Given the description of an element on the screen output the (x, y) to click on. 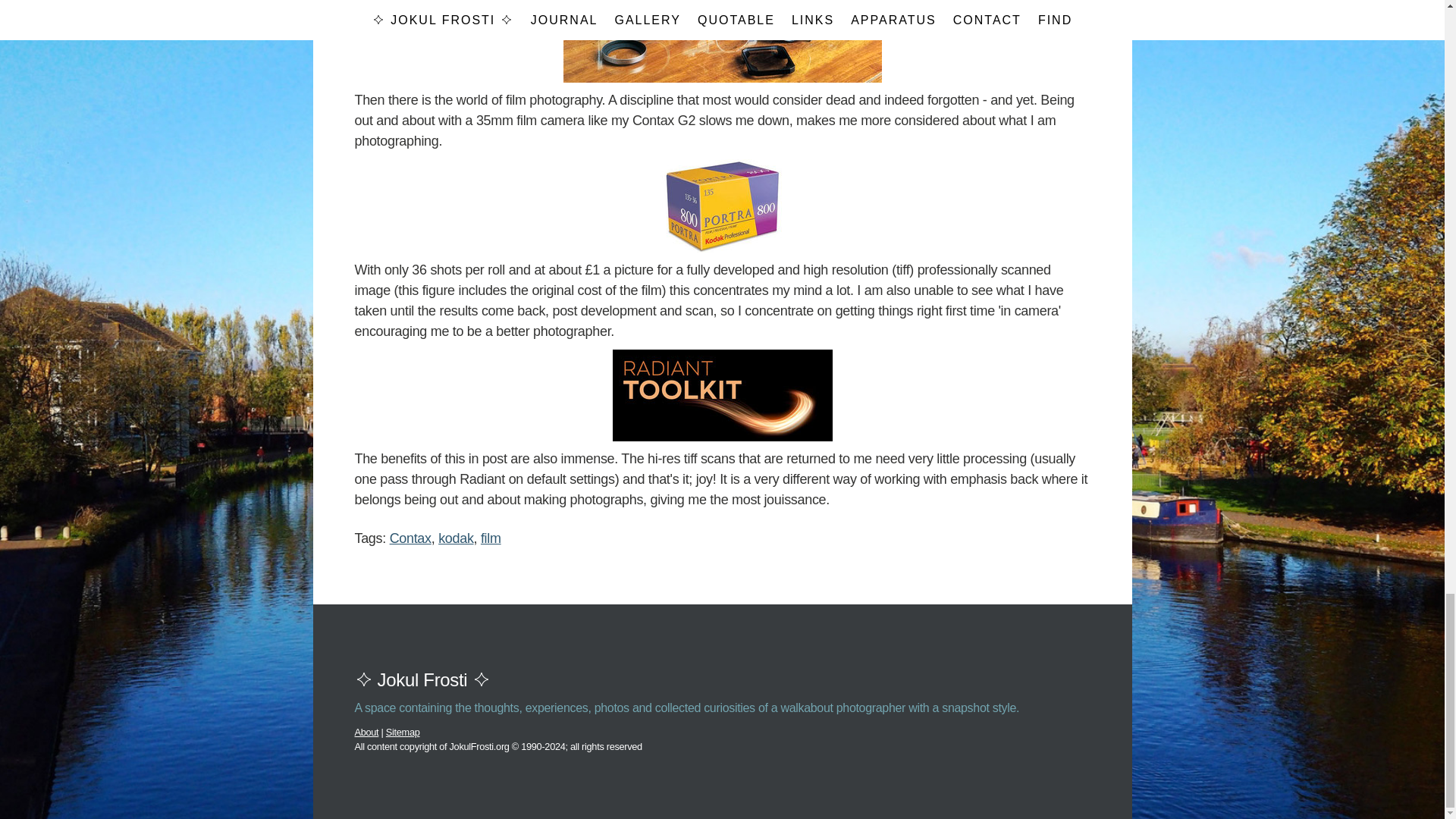
film (490, 538)
About (366, 731)
Contax (410, 538)
kodak (455, 538)
Sitemap (402, 731)
